Given the description of an element on the screen output the (x, y) to click on. 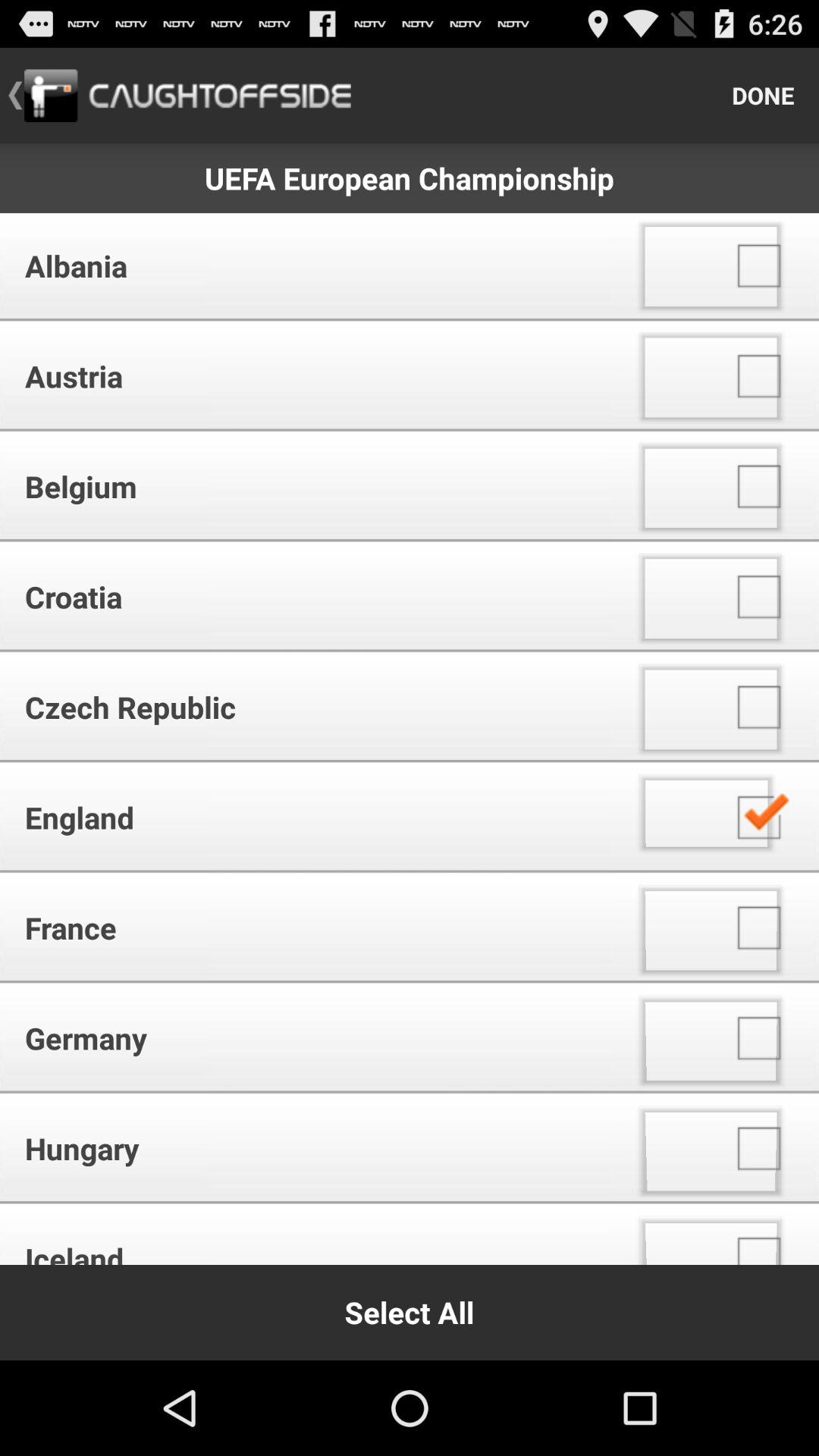
select croatia item (311, 596)
